Given the description of an element on the screen output the (x, y) to click on. 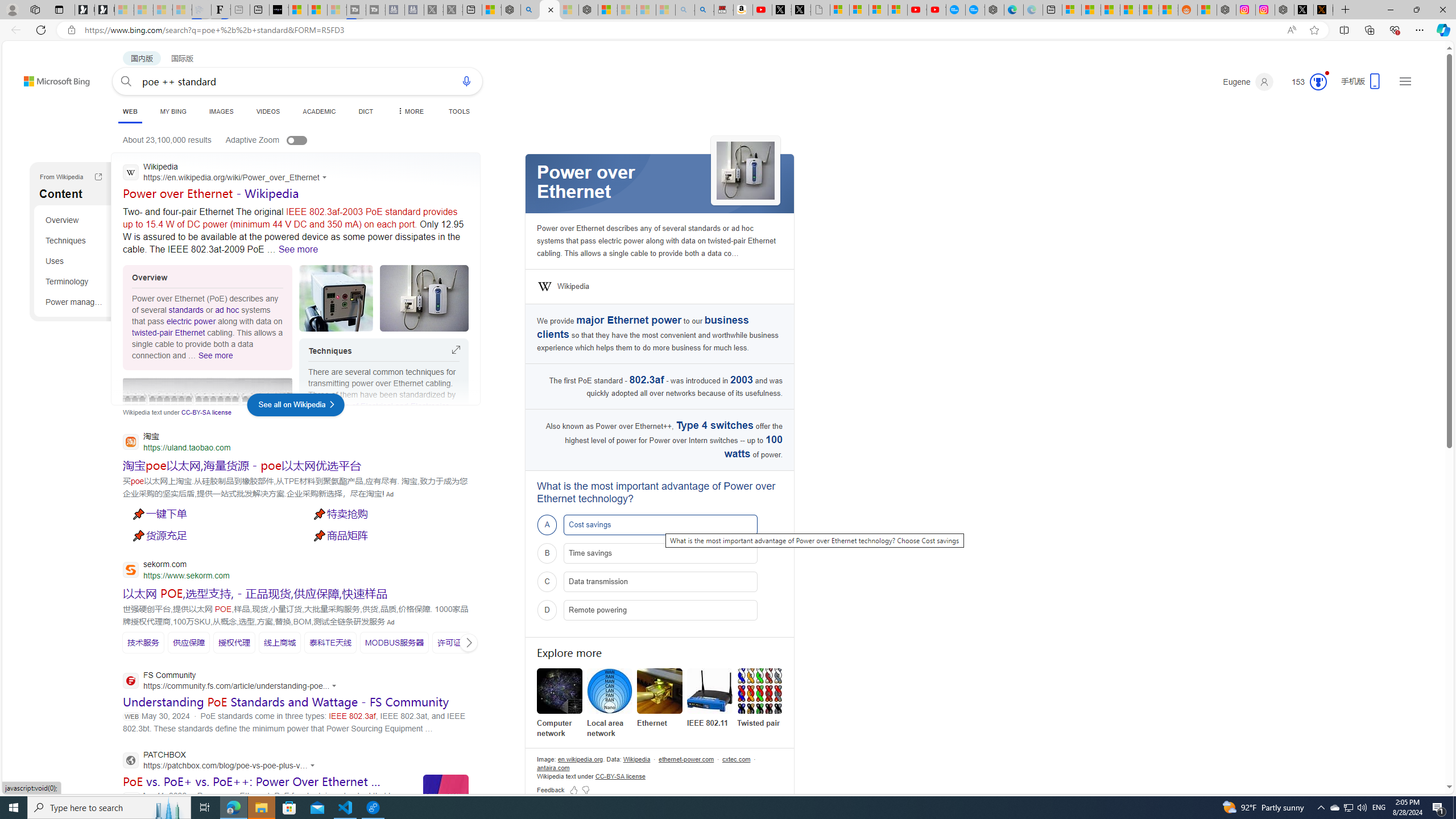
Microsoft account | Microsoft Account Privacy Settings (1071, 9)
SERP,5919 (207, 535)
MY BING (172, 111)
ACADEMIC (319, 111)
Actions for this site (314, 765)
AutomationID: mfa_root (1406, 752)
Nordace (@NordaceOfficial) / X (1303, 9)
WEB (129, 111)
